Given the description of an element on the screen output the (x, y) to click on. 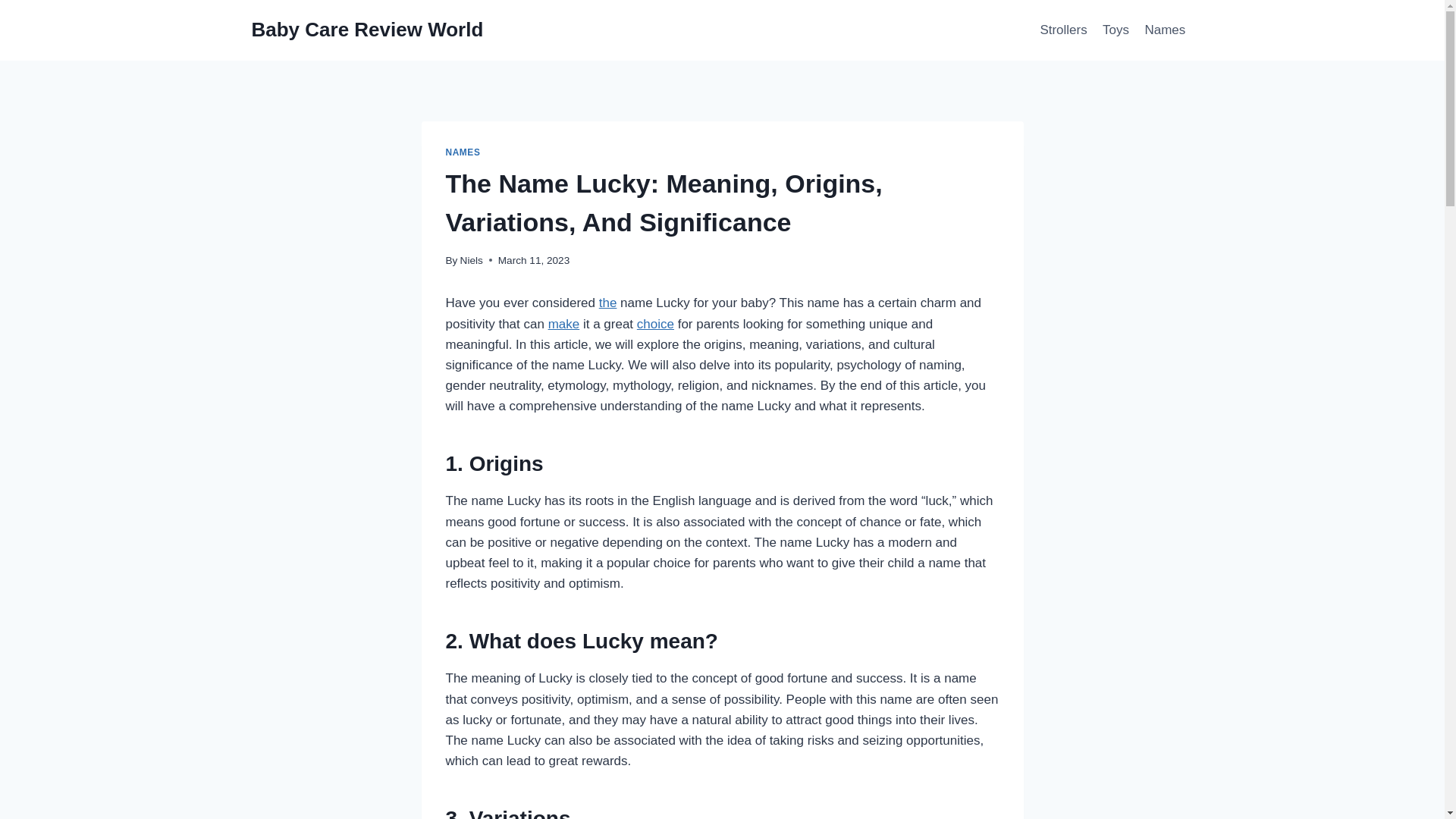
Names (1164, 30)
NAMES (462, 152)
Toys (1115, 30)
the (607, 302)
choice (655, 323)
Niels (471, 260)
Baby Care Review World (367, 29)
make (563, 323)
Strollers (1063, 30)
